Given the description of an element on the screen output the (x, y) to click on. 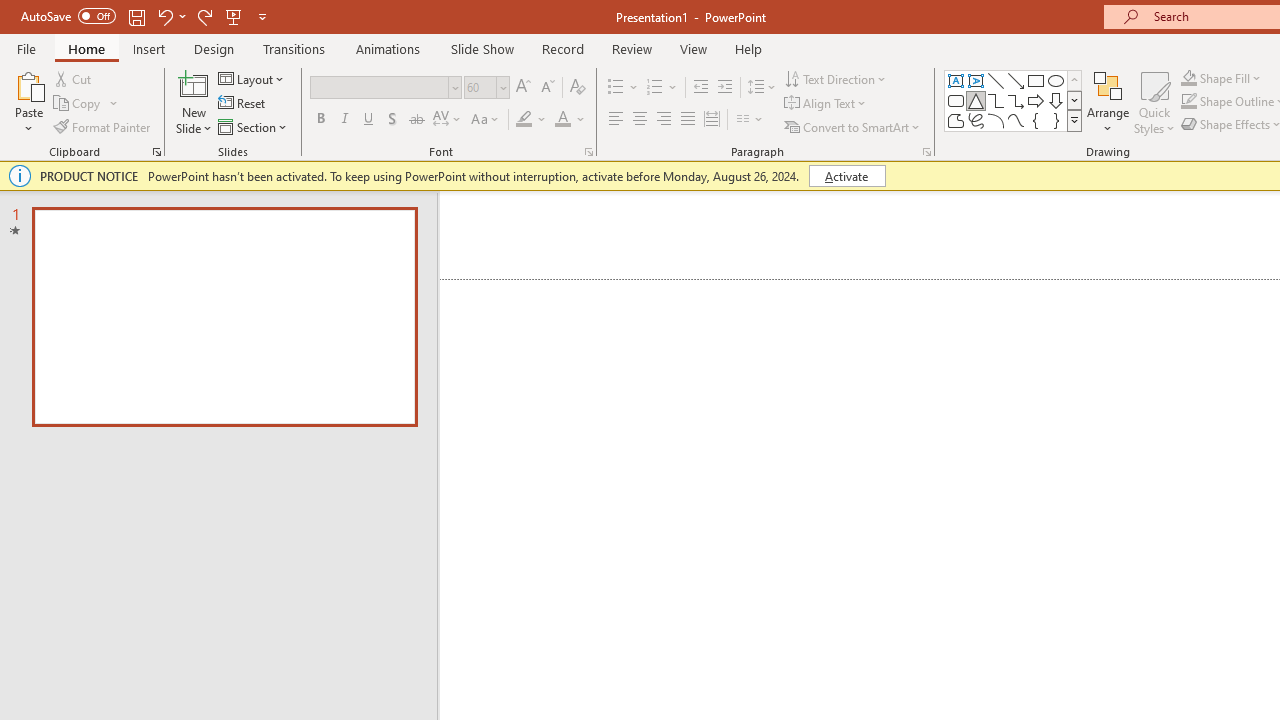
Class: NetUIImage (1075, 120)
Font Size (486, 87)
Vertical Text Box (975, 80)
Copy (78, 103)
Isosceles Triangle (975, 100)
New Slide (193, 84)
Shapes (1074, 120)
Align Right (663, 119)
Curve (1016, 120)
New Slide (193, 102)
Clear Formatting (577, 87)
